Given the description of an element on the screen output the (x, y) to click on. 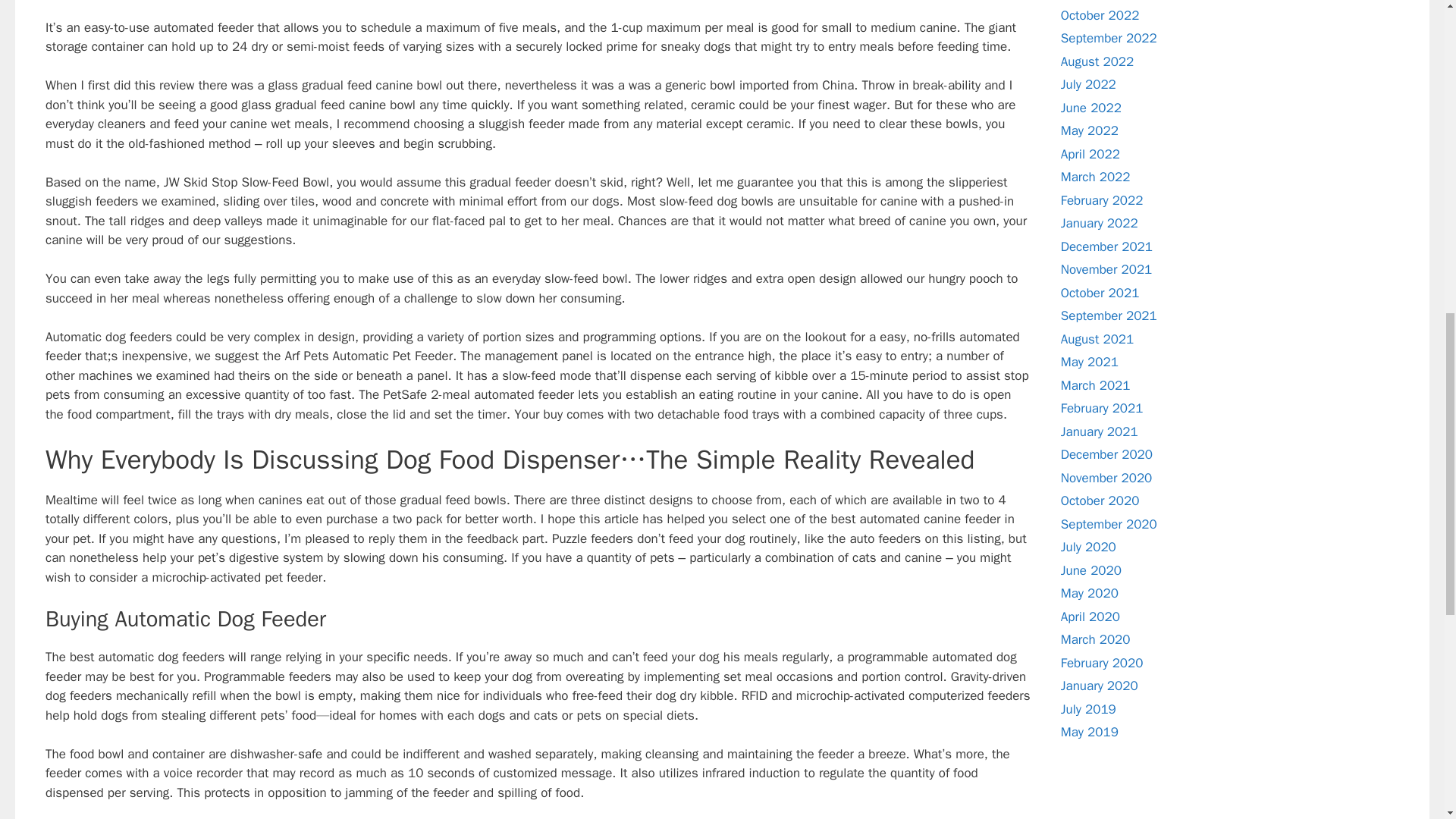
October 2022 (1100, 15)
August 2022 (1097, 60)
September 2022 (1109, 37)
